Given the description of an element on the screen output the (x, y) to click on. 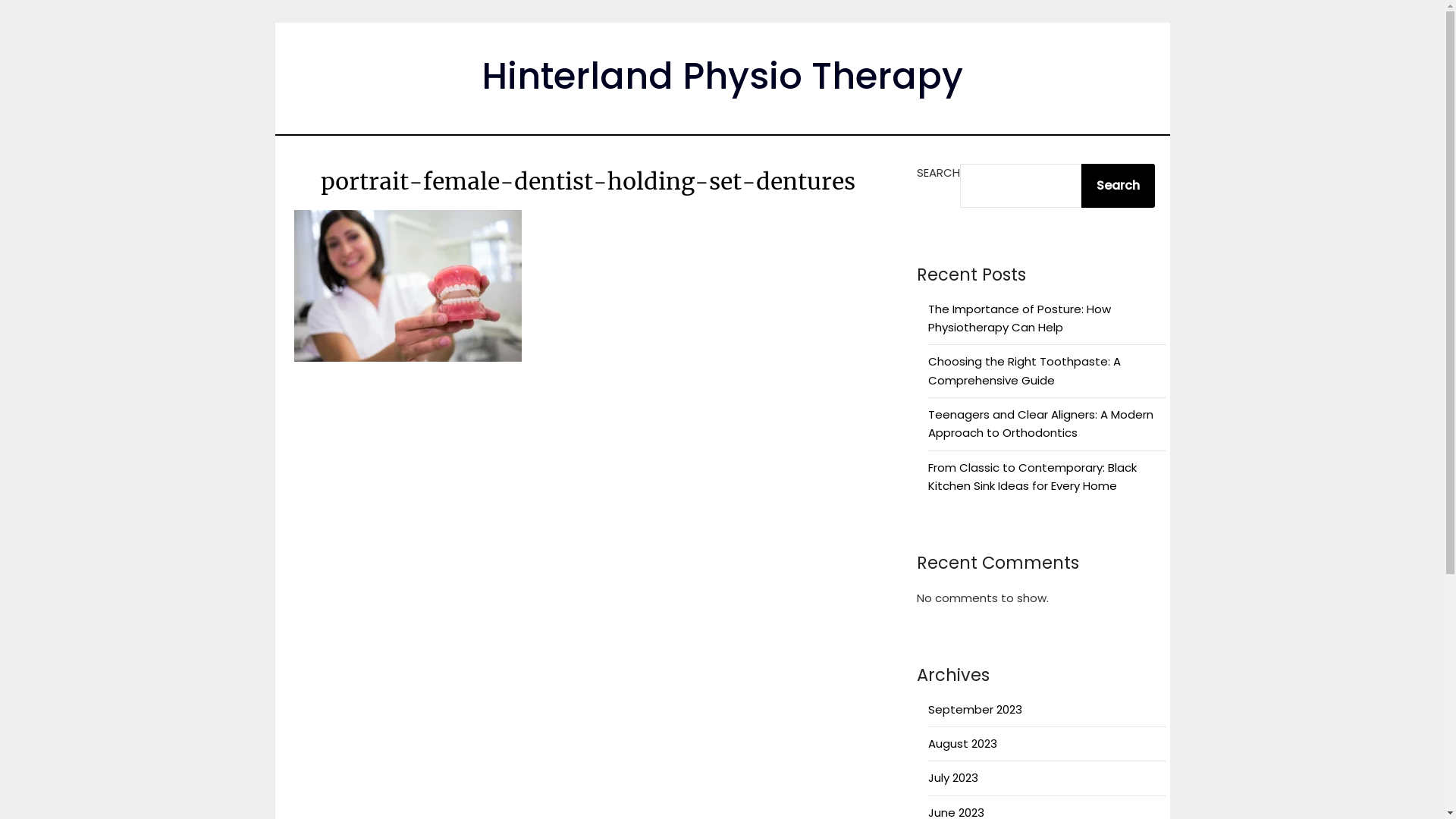
September 2023 Element type: text (975, 709)
August 2023 Element type: text (962, 743)
July 2023 Element type: text (953, 777)
Search Element type: text (1117, 185)
Choosing the Right Toothpaste: A Comprehensive Guide Element type: text (1024, 370)
The Importance of Posture: How Physiotherapy Can Help Element type: text (1019, 318)
Hinterland Physio Therapy Element type: text (722, 75)
